Given the description of an element on the screen output the (x, y) to click on. 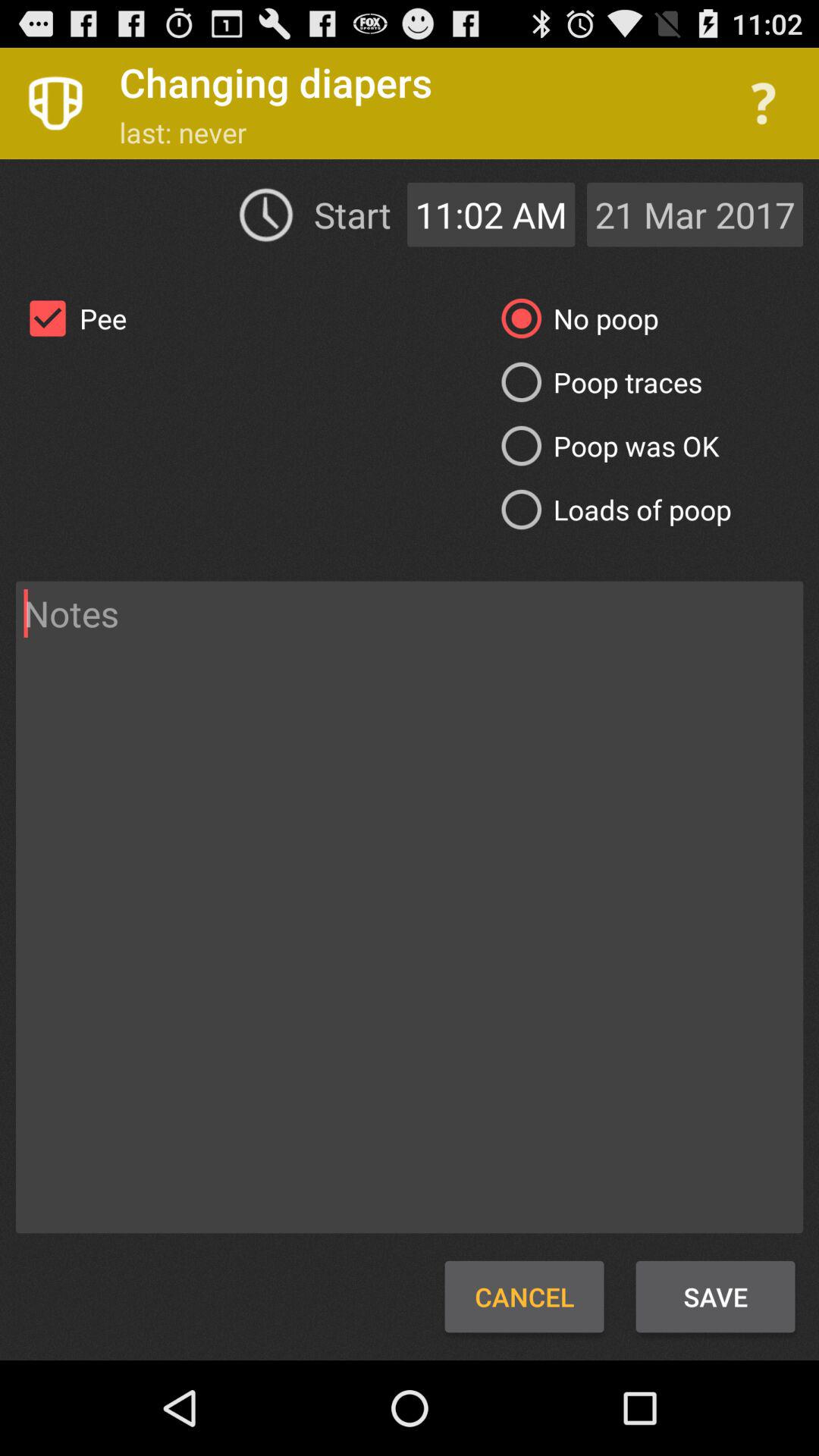
turn on the app to the right of the start item (491, 214)
